Given the description of an element on the screen output the (x, y) to click on. 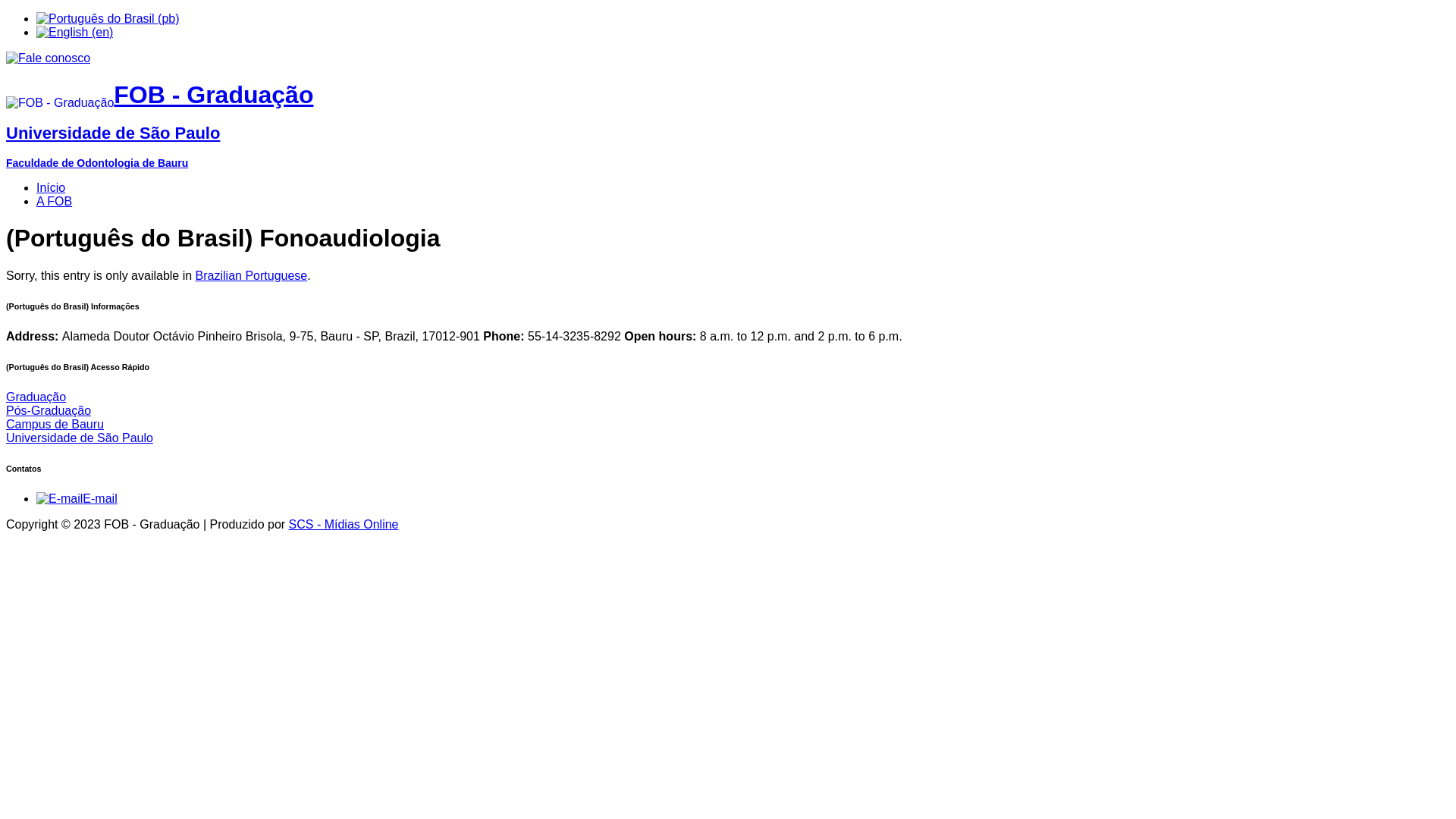
A FOB Element type: text (54, 200)
Fale conosco Element type: hover (48, 58)
English (en) Element type: hover (74, 31)
E-mail Element type: hover (59, 498)
E-mail Element type: text (76, 498)
Campus de Bauru Element type: text (54, 423)
Brazilian Portuguese Element type: text (251, 275)
